Given the description of an element on the screen output the (x, y) to click on. 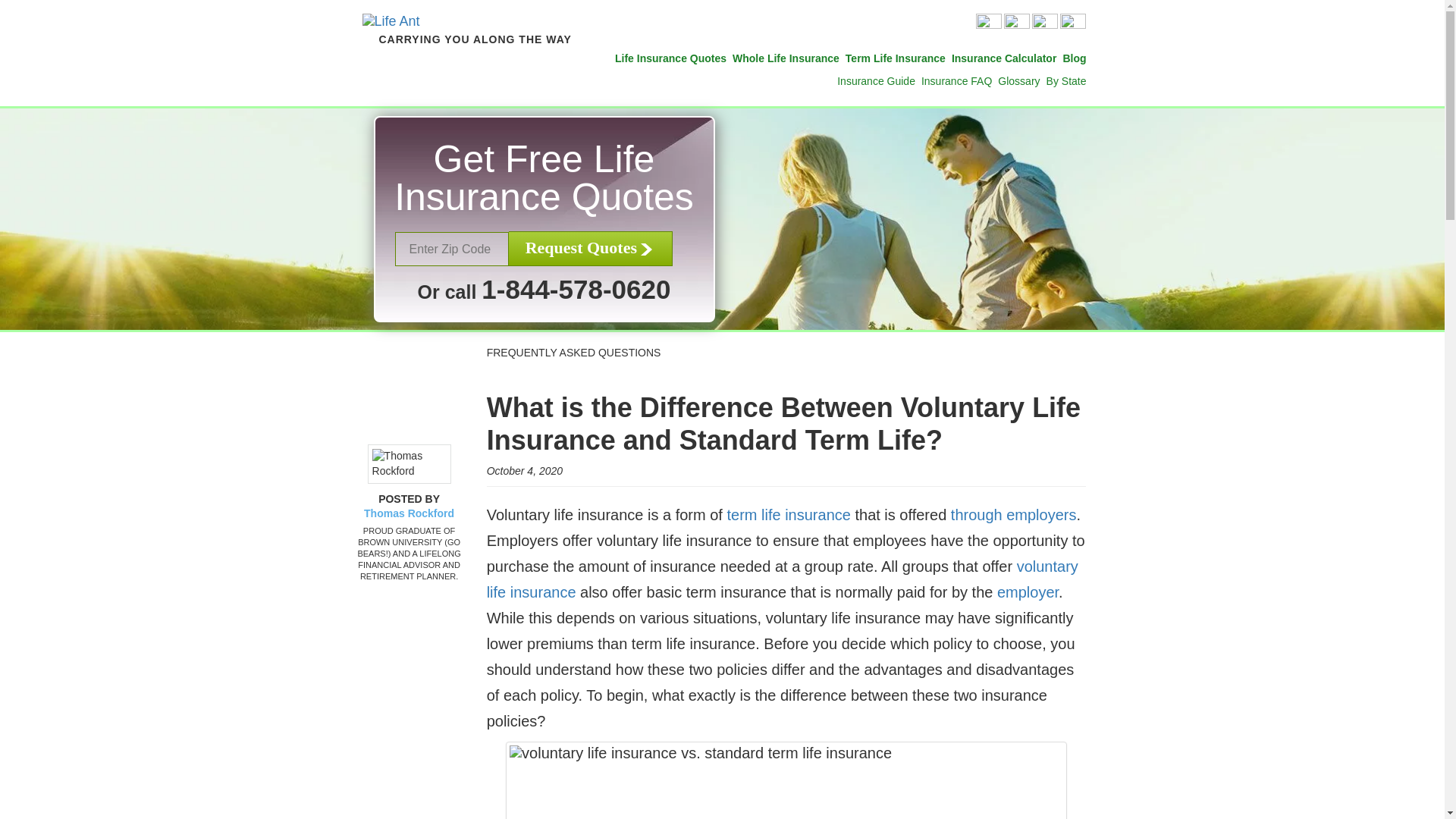
Glossary (1018, 80)
By State (1066, 80)
through employers (1013, 514)
Insurance Calculator (1004, 58)
term life insurance (788, 514)
Blog (1074, 58)
Life Insurance Quotes (670, 58)
Term Life Insurance (894, 58)
employer (1027, 591)
Request Quotes (590, 248)
voluntary life insurance (782, 578)
Insurance FAQ (956, 80)
Insurance Guide (876, 80)
Whole Life Insurance (786, 58)
